Given the description of an element on the screen output the (x, y) to click on. 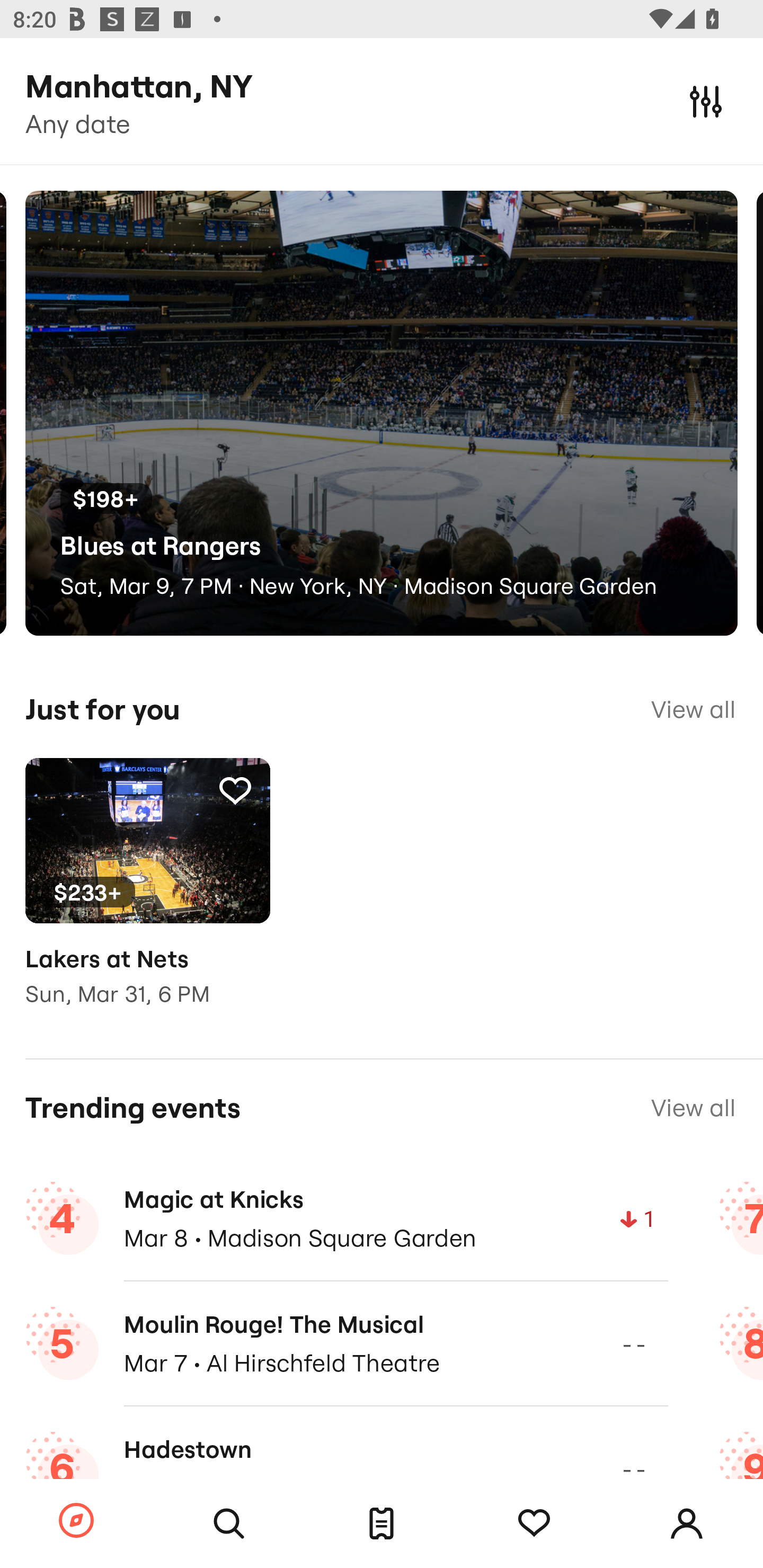
Filters (705, 100)
View all (693, 709)
Tracking $233+ Lakers at Nets Sun, Mar 31, 6 PM (147, 895)
Tracking (234, 790)
View all (693, 1108)
Browse (76, 1521)
Search (228, 1523)
Tickets (381, 1523)
Tracking (533, 1523)
Account (686, 1523)
